Given the description of an element on the screen output the (x, y) to click on. 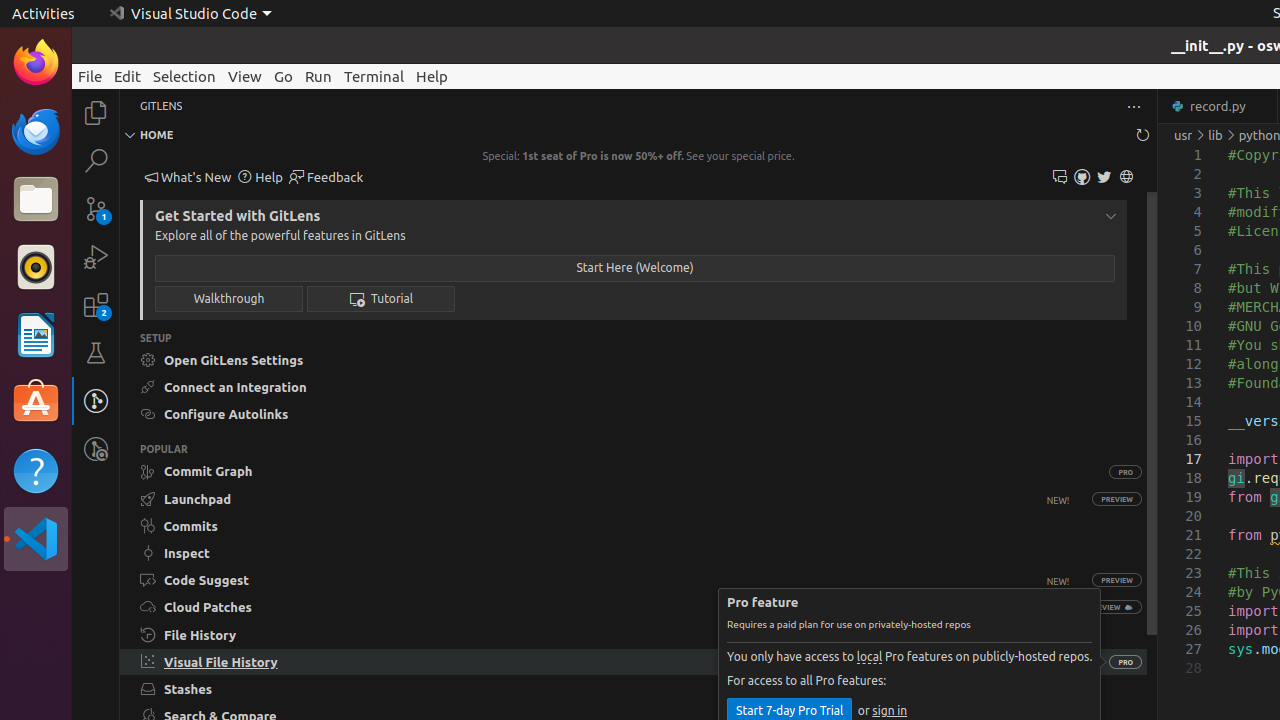
Home Section Element type: push-button (638, 135)
Show Stashes view Element type: link (633, 689)
GitHub Repo Element type: link (1082, 177)
Show Commit Graph Element type: link (613, 471)
GitHub Discussions Element type: link (1060, 177)
